Given the description of an element on the screen output the (x, y) to click on. 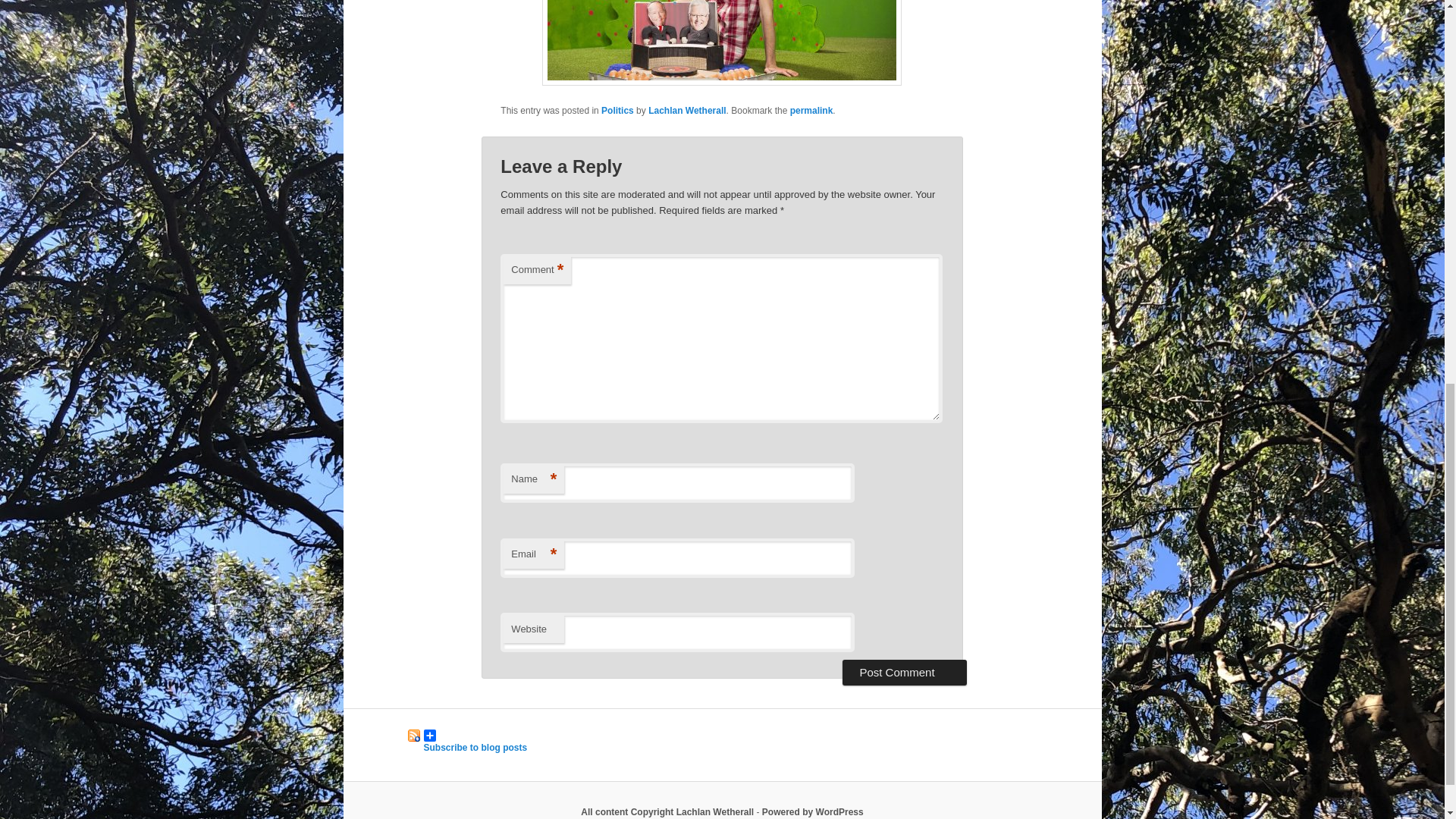
Post Comment (904, 672)
Lachlan Wetherall (686, 110)
permalink (811, 110)
Subscribe to blog posts (463, 735)
All content Copyright Lachlan Wetherall (667, 811)
Post Comment (904, 672)
Politics (617, 110)
Powered by WordPress (812, 811)
Permalink to Sammy J Says It All (811, 110)
